Given the description of an element on the screen output the (x, y) to click on. 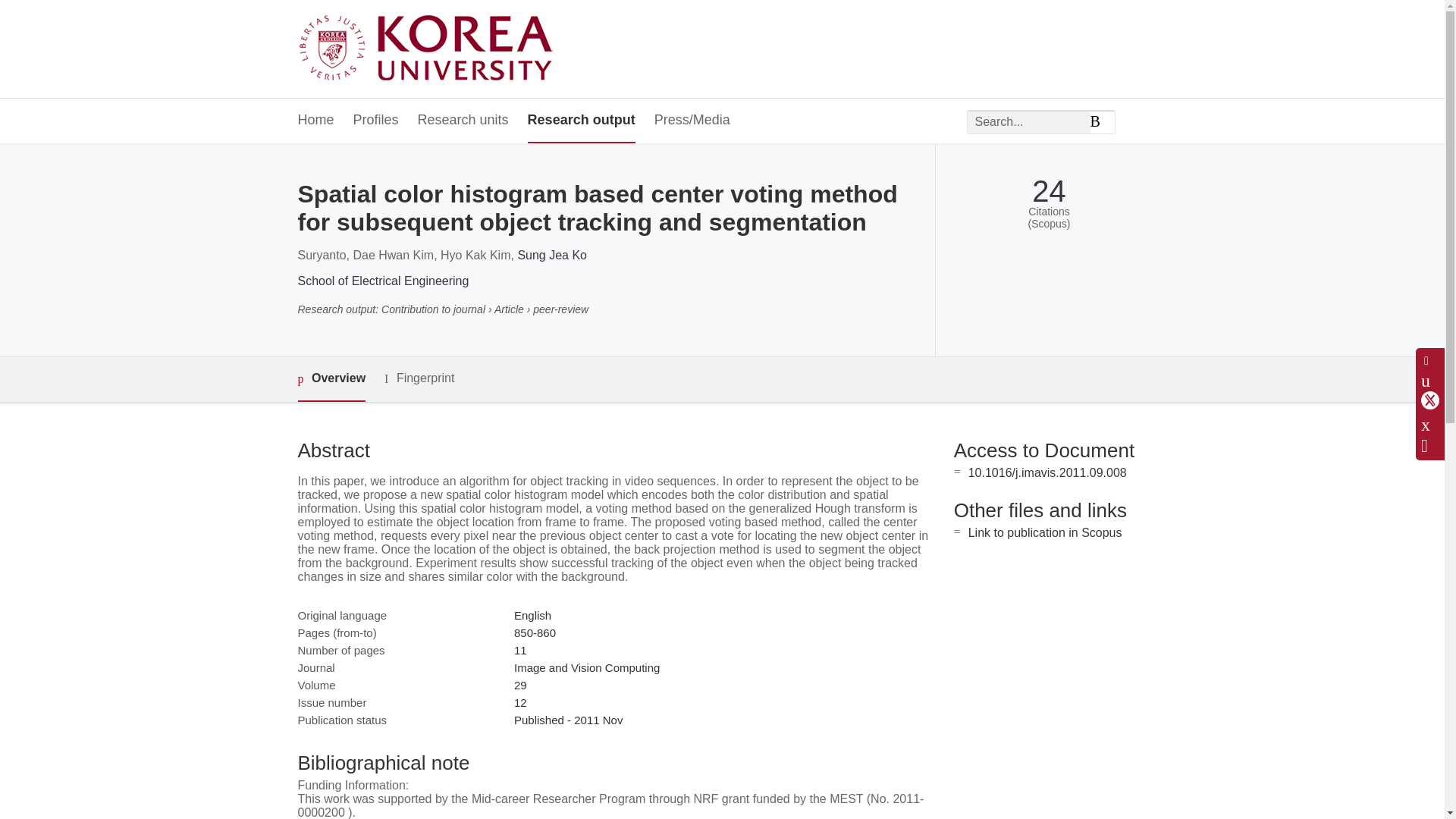
Image and Vision Computing (586, 667)
Research output (580, 120)
Link to publication in Scopus (1045, 532)
School of Electrical Engineering (382, 280)
Fingerprint (419, 378)
24 (1048, 191)
Sung Jea Ko (551, 254)
Overview (331, 379)
Profiles (375, 120)
